Given the description of an element on the screen output the (x, y) to click on. 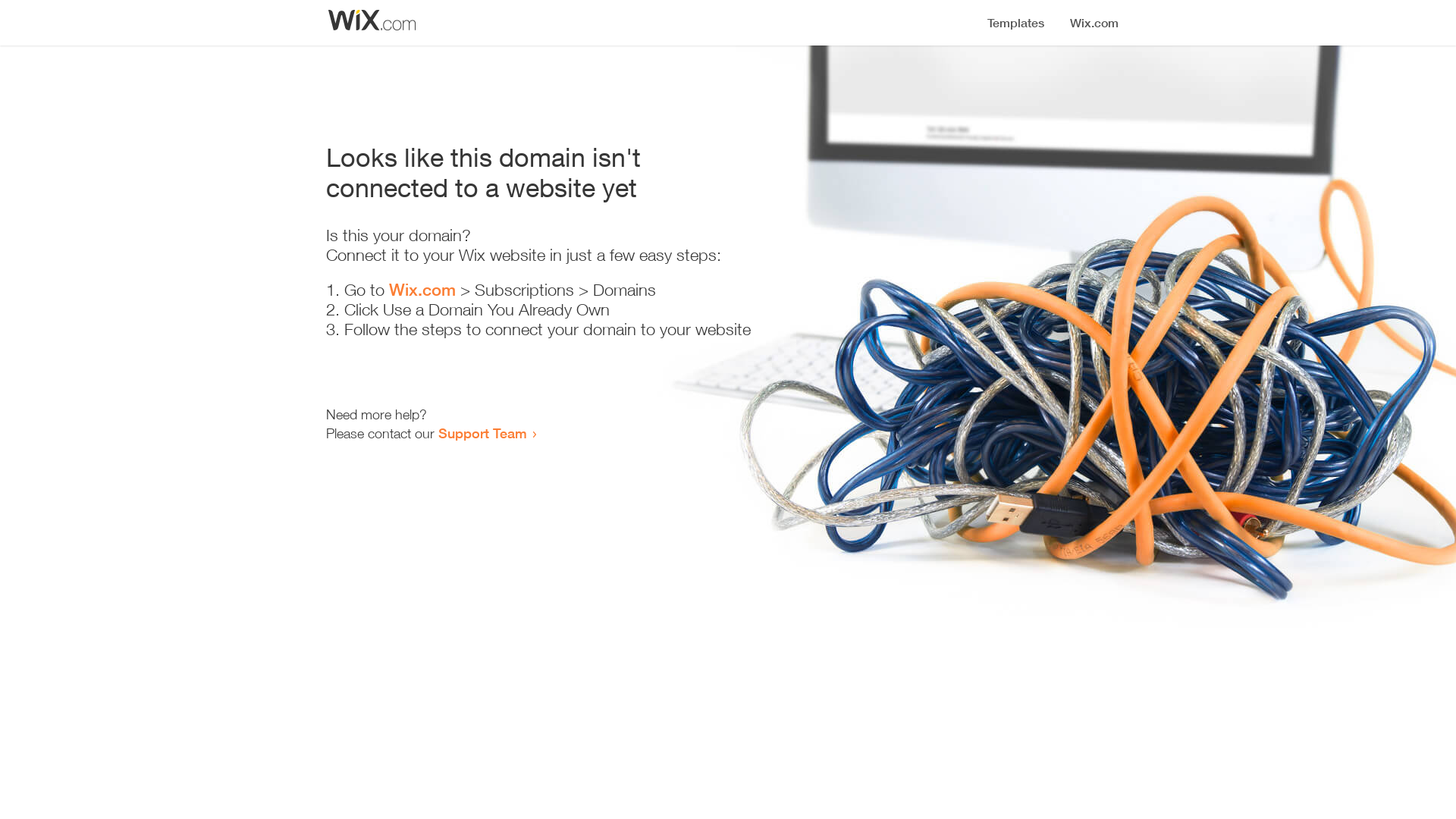
Wix.com Element type: text (422, 289)
Support Team Element type: text (482, 432)
